Given the description of an element on the screen output the (x, y) to click on. 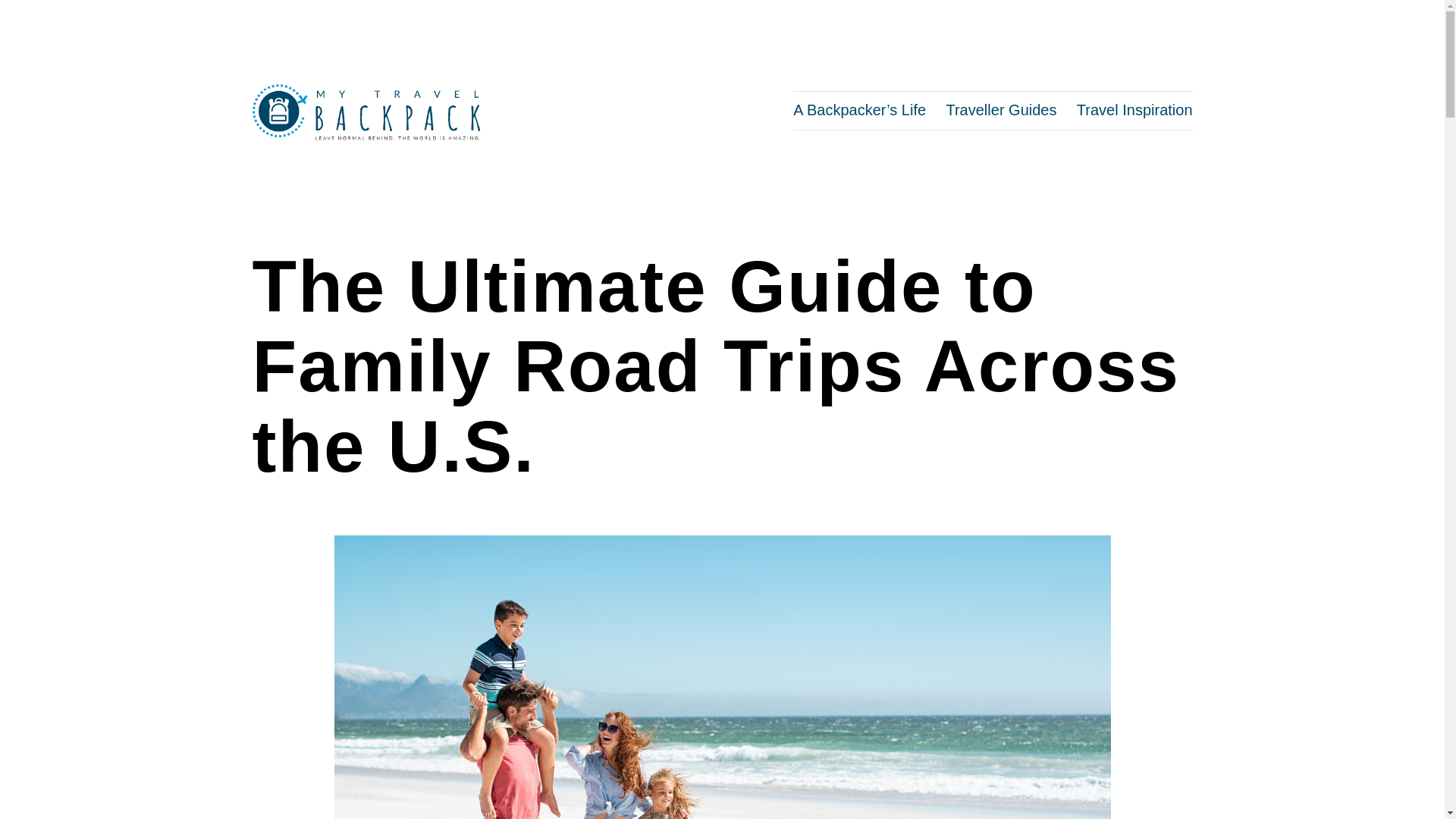
Traveller Guides (1000, 109)
Travel Inspiration (1134, 109)
